Given the description of an element on the screen output the (x, y) to click on. 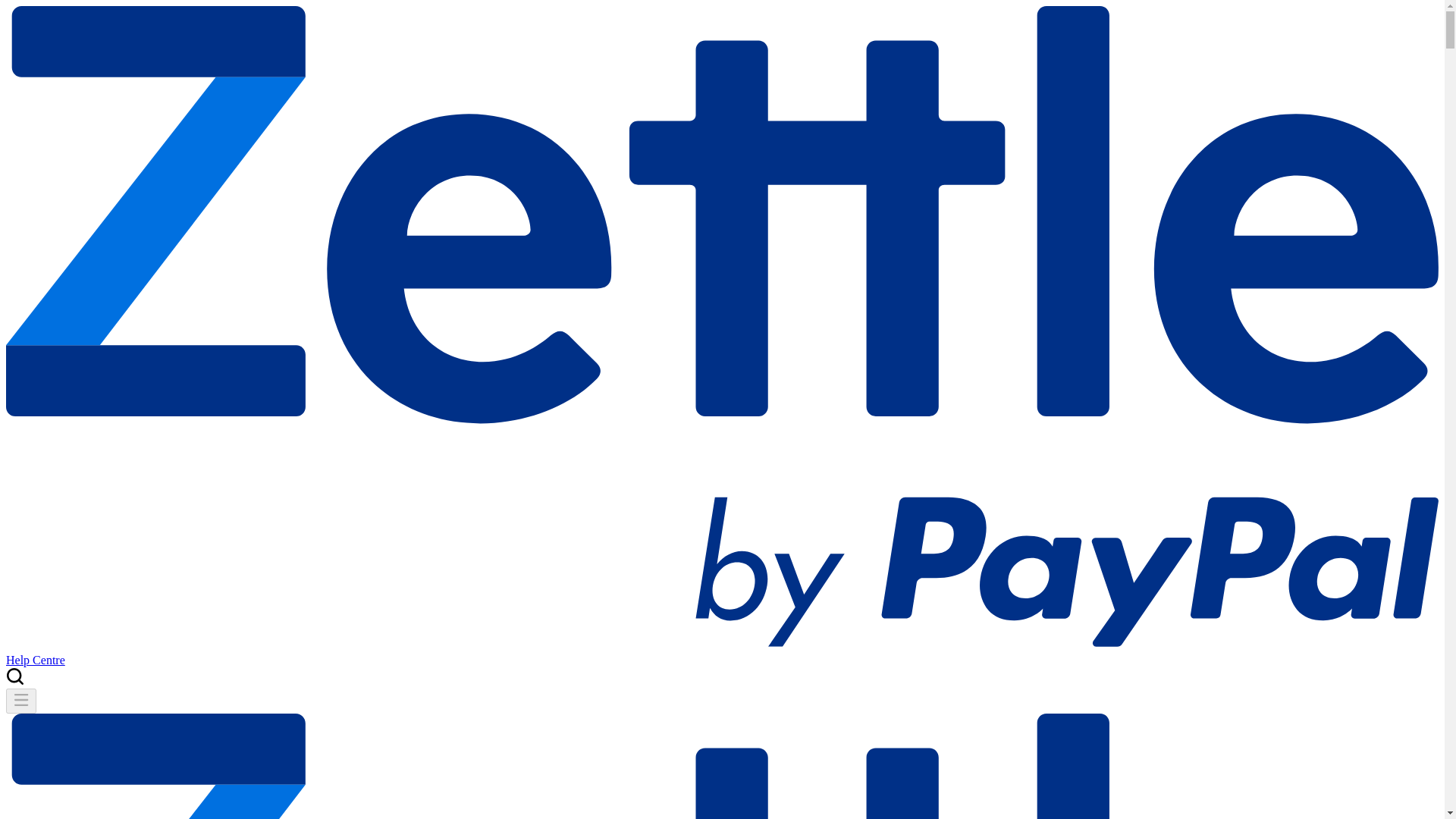
Open main menu (20, 705)
